Given the description of an element on the screen output the (x, y) to click on. 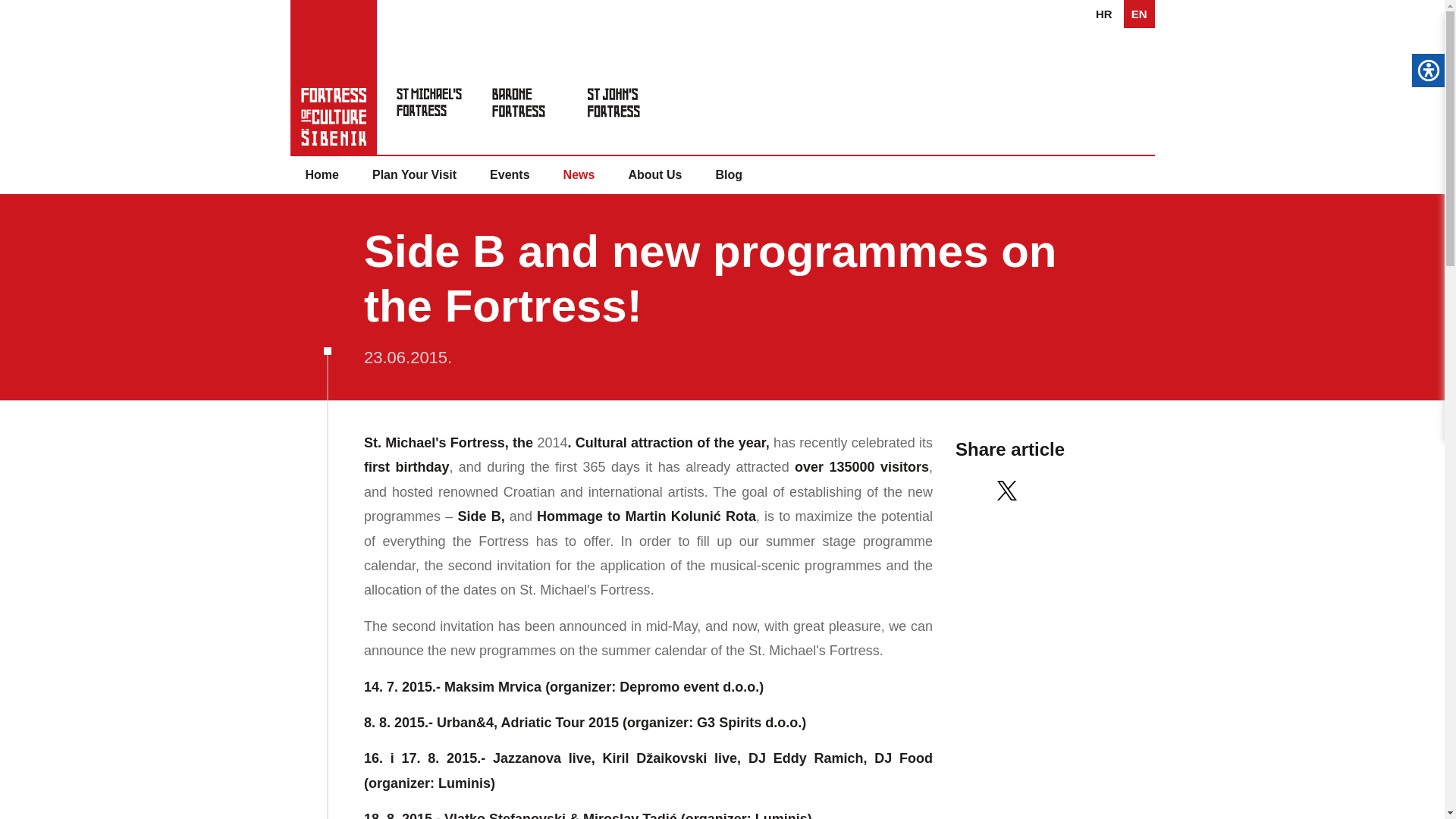
About Us (654, 175)
News (579, 175)
Events (509, 175)
Plan Your Visit (413, 175)
Blog (728, 175)
Home (321, 175)
